Given the description of an element on the screen output the (x, y) to click on. 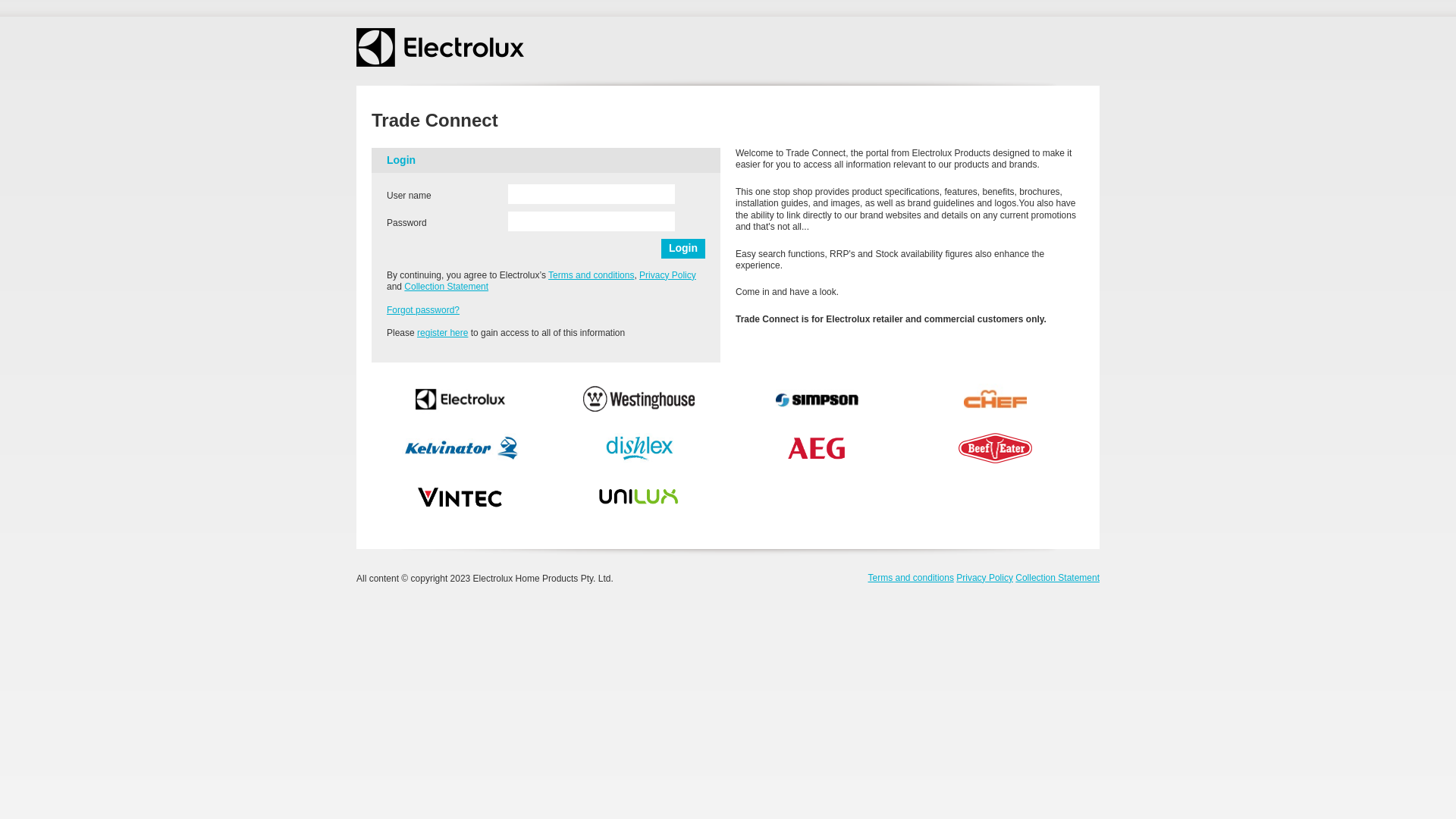
Privacy Policy Element type: text (667, 274)
Privacy Policy Element type: text (984, 577)
Login Element type: text (683, 248)
register here Element type: text (442, 332)
Collection Statement Element type: text (1057, 577)
Terms and conditions Element type: text (910, 577)
Forgot password? Element type: text (422, 309)
Terms and conditions Element type: text (590, 274)
Collection Statement Element type: text (446, 286)
